Given the description of an element on the screen output the (x, y) to click on. 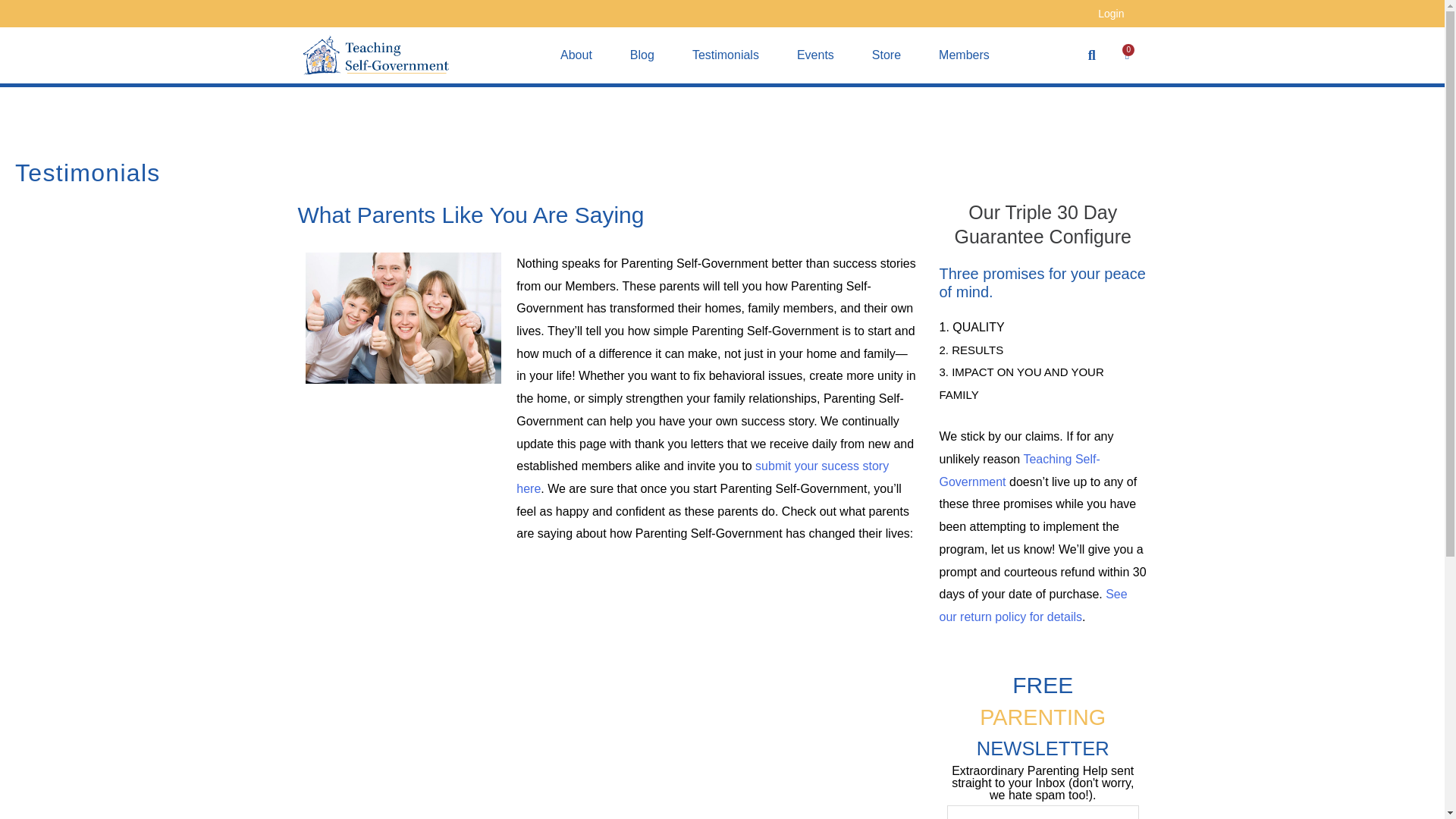
Members (964, 54)
See our return policy for details (1032, 605)
Store (886, 54)
submit your sucess story here (702, 477)
Login (1110, 15)
Testimonials (724, 54)
About (576, 54)
Events (815, 54)
Teaching Self-Government (1126, 54)
